Given the description of an element on the screen output the (x, y) to click on. 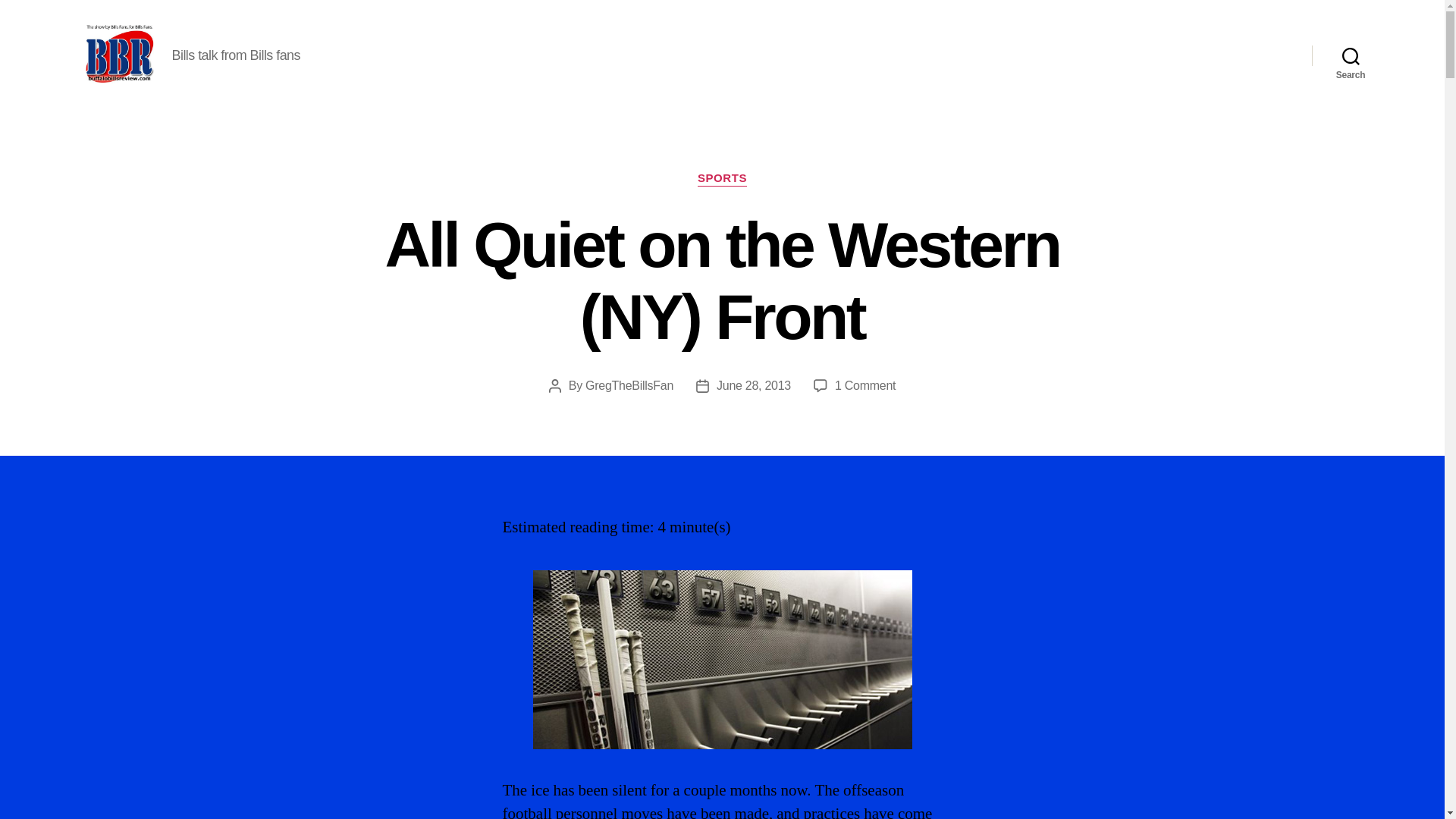
GregTheBillsFan (628, 385)
June 28, 2013 (753, 385)
Search (1350, 55)
SPORTS (721, 178)
